Given the description of an element on the screen output the (x, y) to click on. 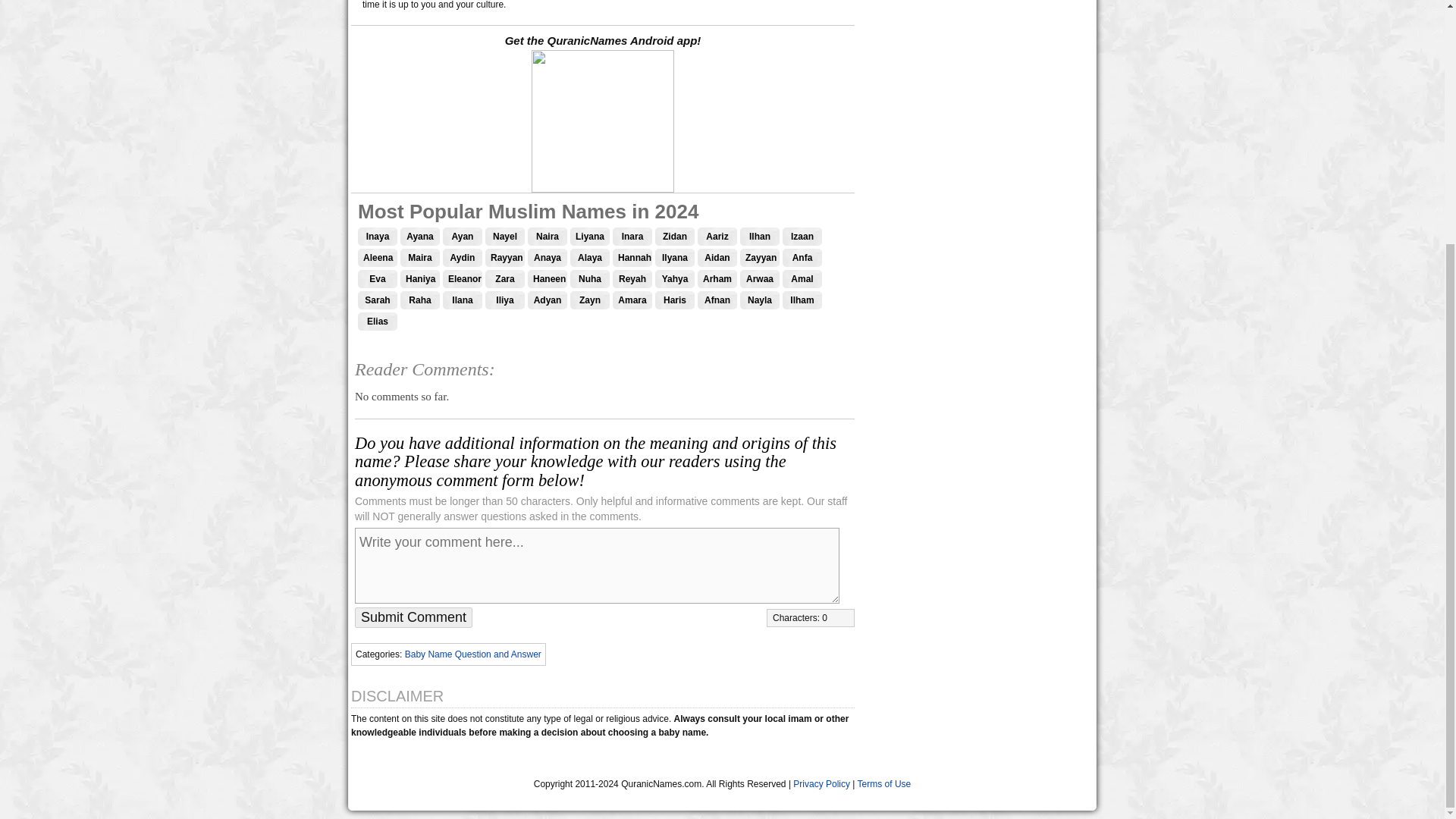
Ilhan (758, 236)
Ayan (461, 236)
Maira (419, 257)
Aleena (377, 257)
Nayel (504, 236)
Nayel (504, 236)
Izaan (802, 236)
Inaya (377, 236)
Inaya (377, 236)
Liyana (590, 236)
